Given the description of an element on the screen output the (x, y) to click on. 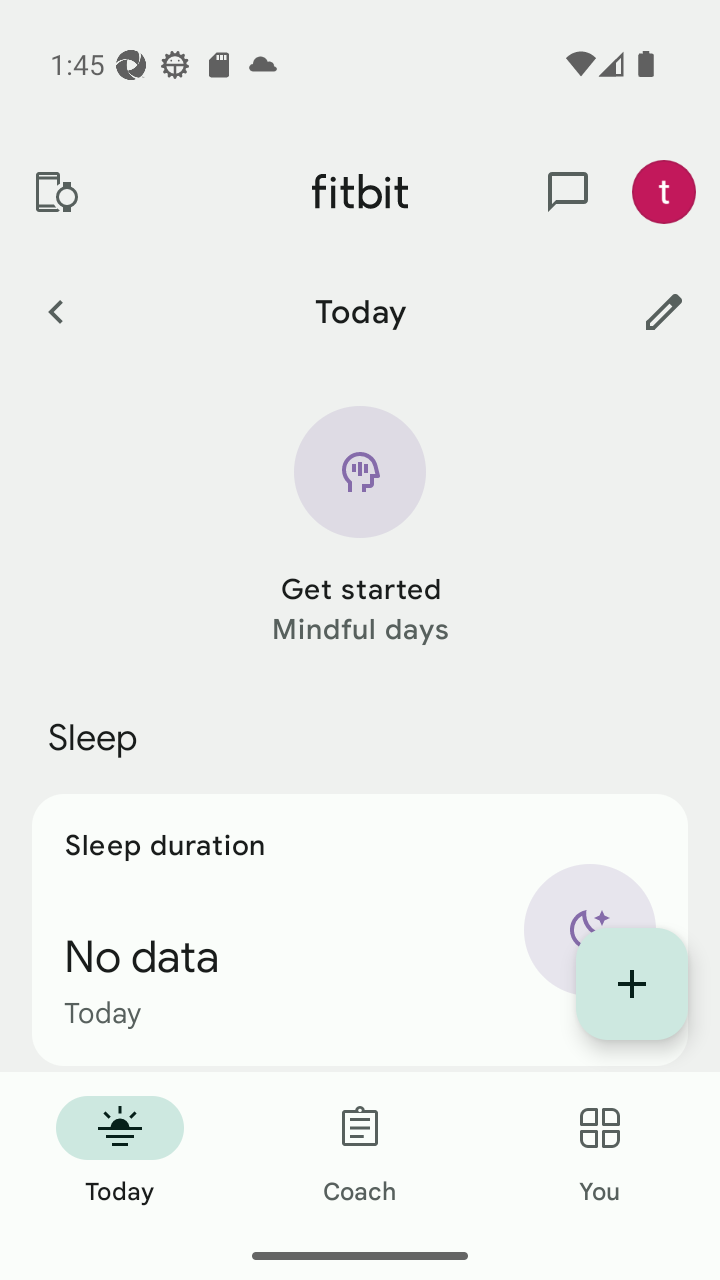
Devices and apps (55, 191)
messages and notifications (567, 191)
Previous Day (55, 311)
Customize (664, 311)
Mindfulness icon Get started Mindful days (360, 527)
Sleep duration No data Today Sleep static arc (359, 929)
Display list of quick log entries (632, 983)
Coach (359, 1151)
You (600, 1151)
